Given the description of an element on the screen output the (x, y) to click on. 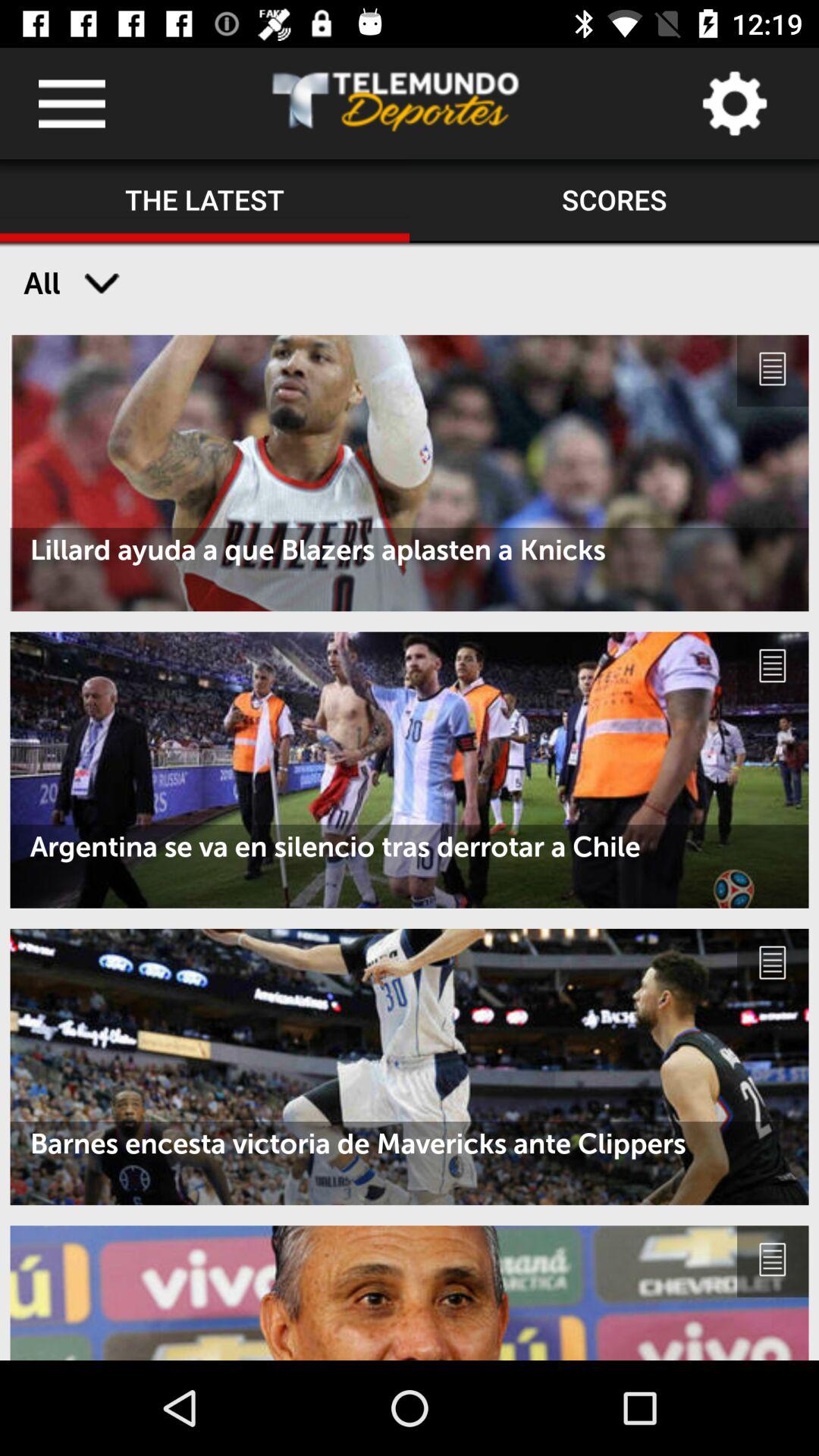
turn off the icon to the left of the scores icon (204, 200)
